Given the description of an element on the screen output the (x, y) to click on. 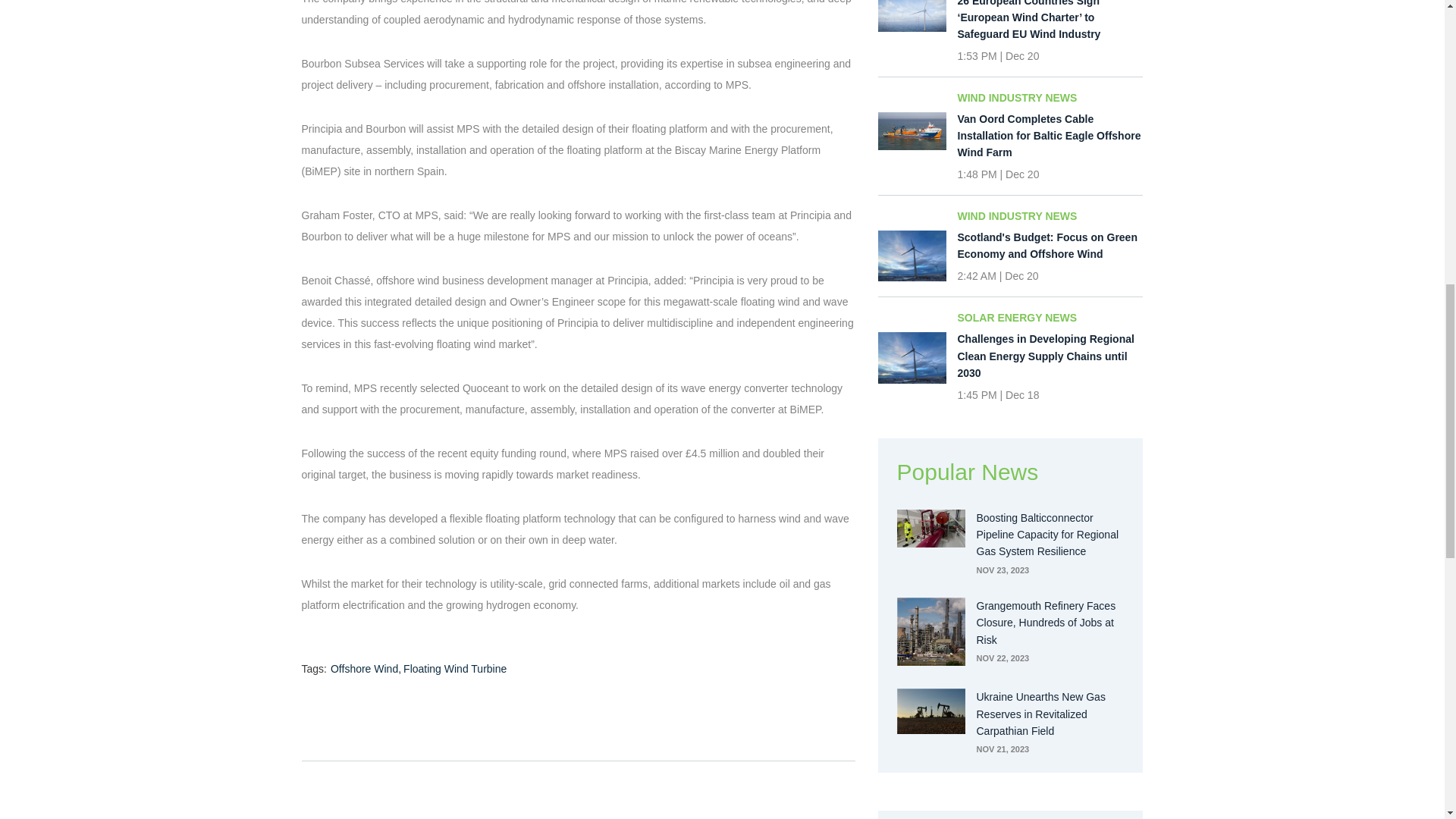
Vestas-V164-10-MW-1024x576.jpg (911, 16)
Floating Wind Turbine (455, 668)
WIND INDUSTRY NEWS (1049, 97)
Scotland's Budget: Focus on Green Economy and Offshore Wind (1049, 245)
Untitled.png (929, 631)
HAEGNPPDJ5IYHCKIJACN7W3EVE.png (929, 710)
WIND INDUSTRY NEWS (1049, 215)
Offshore Wind (366, 668)
SOLAR ENERGY NEWS (1049, 317)
